Given the description of an element on the screen output the (x, y) to click on. 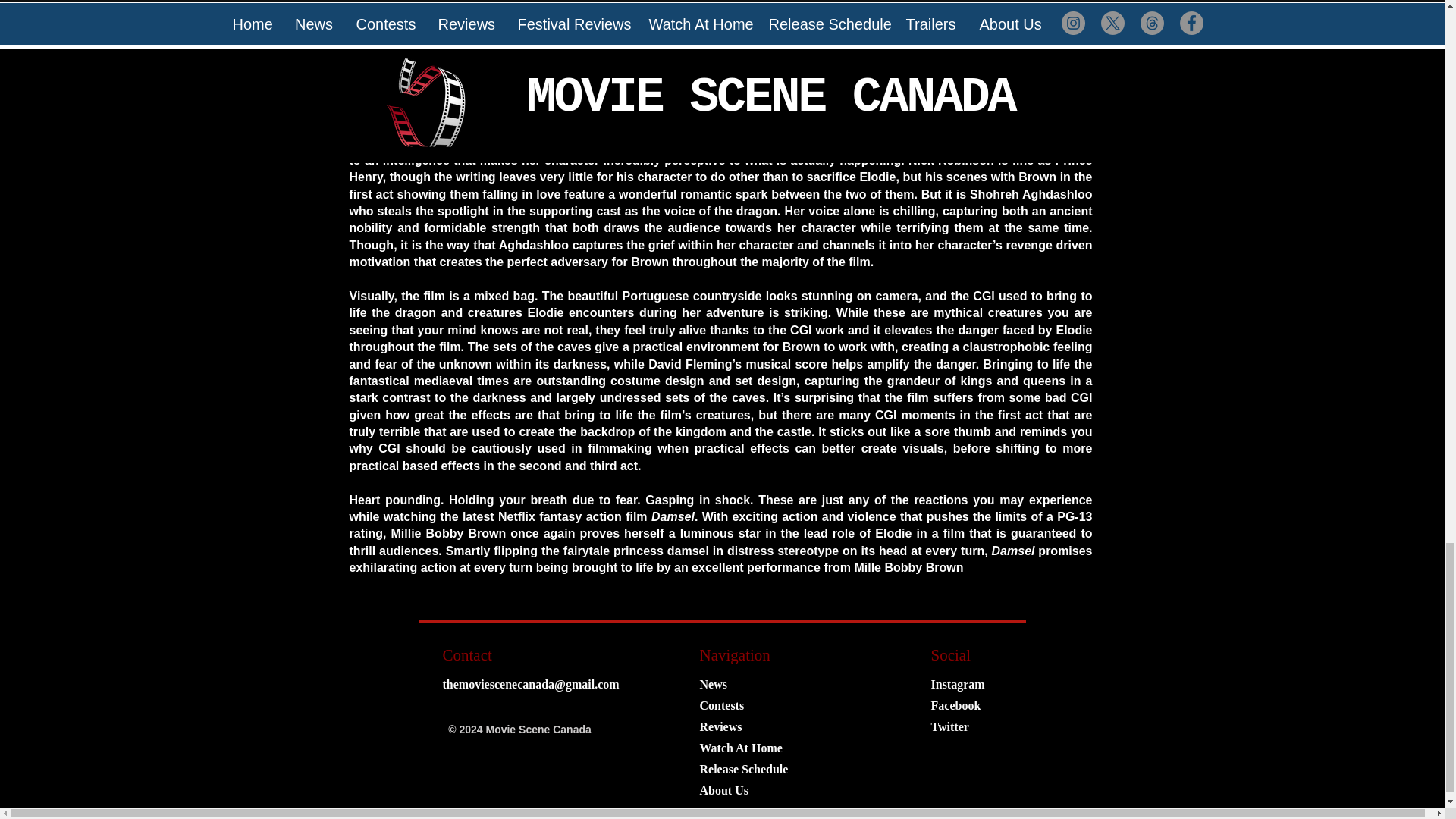
Instagram (958, 684)
Release Schedule (742, 769)
News (712, 684)
Watch At Home (739, 748)
Facebook (956, 705)
Twitter (950, 727)
Contests (721, 705)
Reviews (719, 727)
About Us (723, 790)
